Given the description of an element on the screen output the (x, y) to click on. 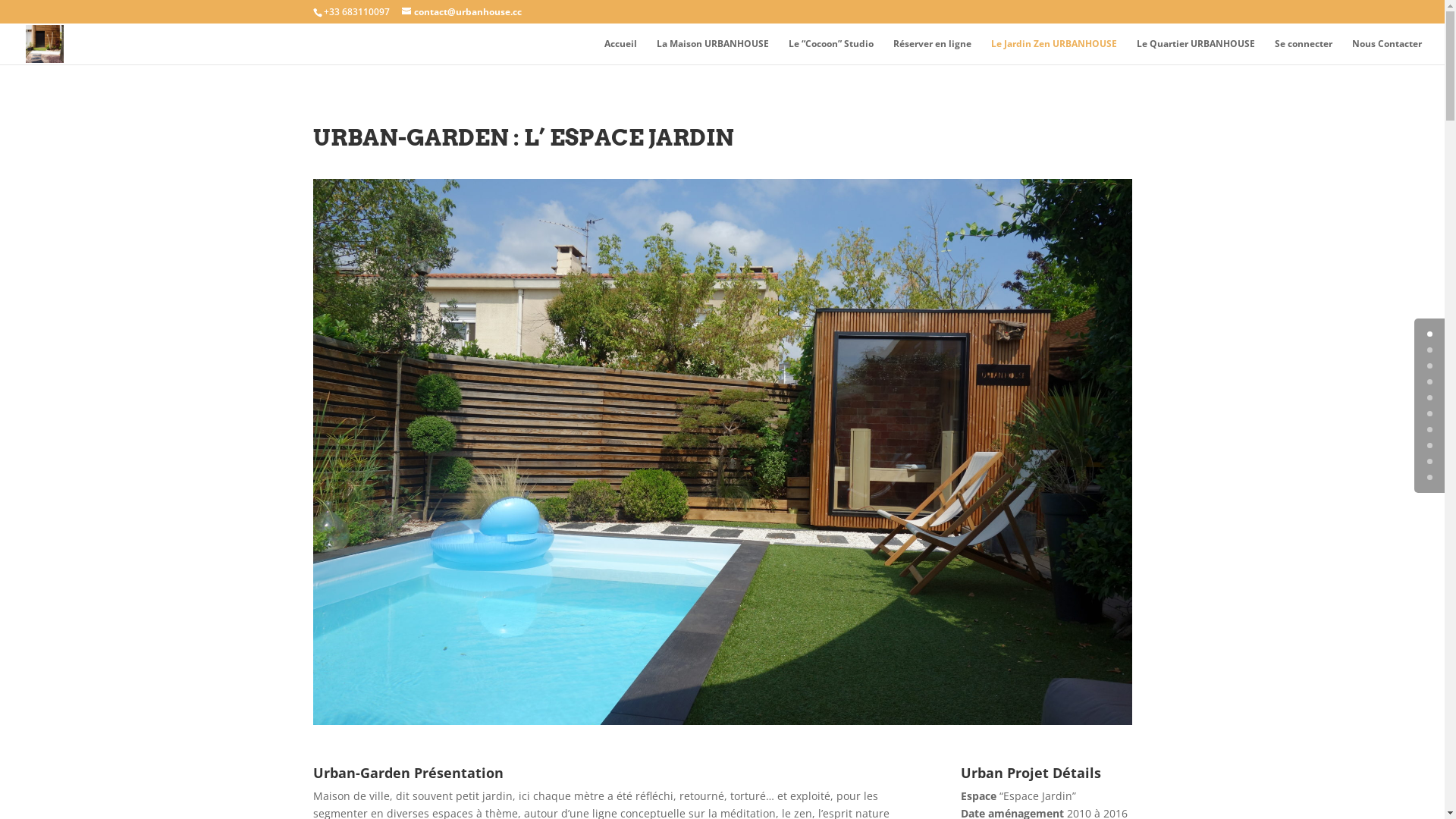
Nous Contacter Element type: text (1386, 51)
Accueil Element type: text (620, 51)
5 Element type: text (1429, 413)
Le Quartier URBANHOUSE Element type: text (1195, 51)
3 Element type: text (1429, 381)
2 Element type: text (1429, 365)
jardin esprit japonais Element type: hover (721, 451)
contact@urbanhouse.cc Element type: text (461, 11)
4 Element type: text (1429, 397)
7 Element type: text (1429, 445)
9 Element type: text (1429, 477)
8 Element type: text (1429, 461)
0 Element type: text (1429, 333)
1 Element type: text (1429, 349)
6 Element type: text (1429, 429)
La Maison URBANHOUSE Element type: text (712, 51)
Le Jardin Zen URBANHOUSE Element type: text (1054, 51)
Se connecter Element type: text (1303, 51)
